Given the description of an element on the screen output the (x, y) to click on. 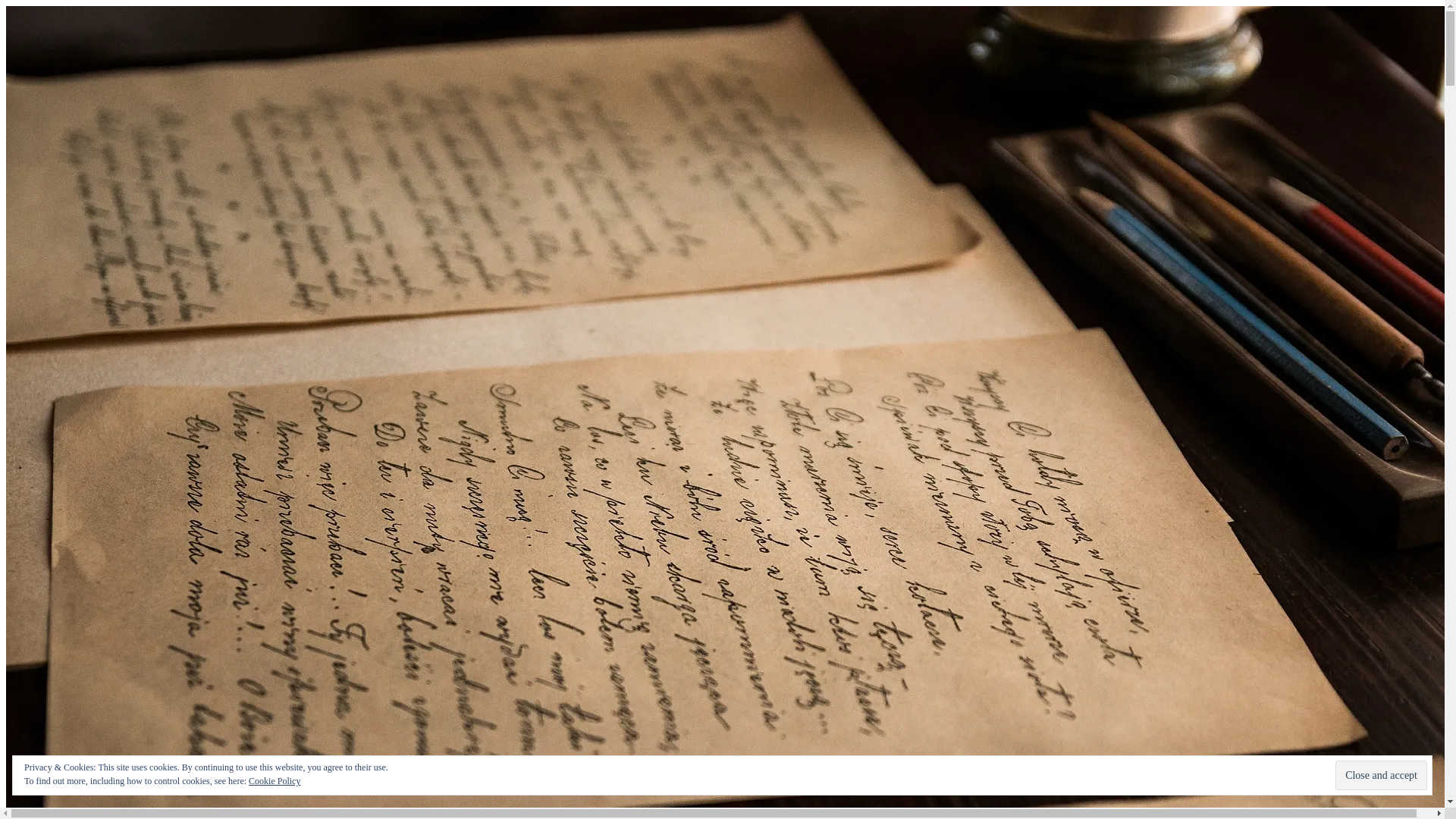
Close and accept (1380, 775)
